Given the description of an element on the screen output the (x, y) to click on. 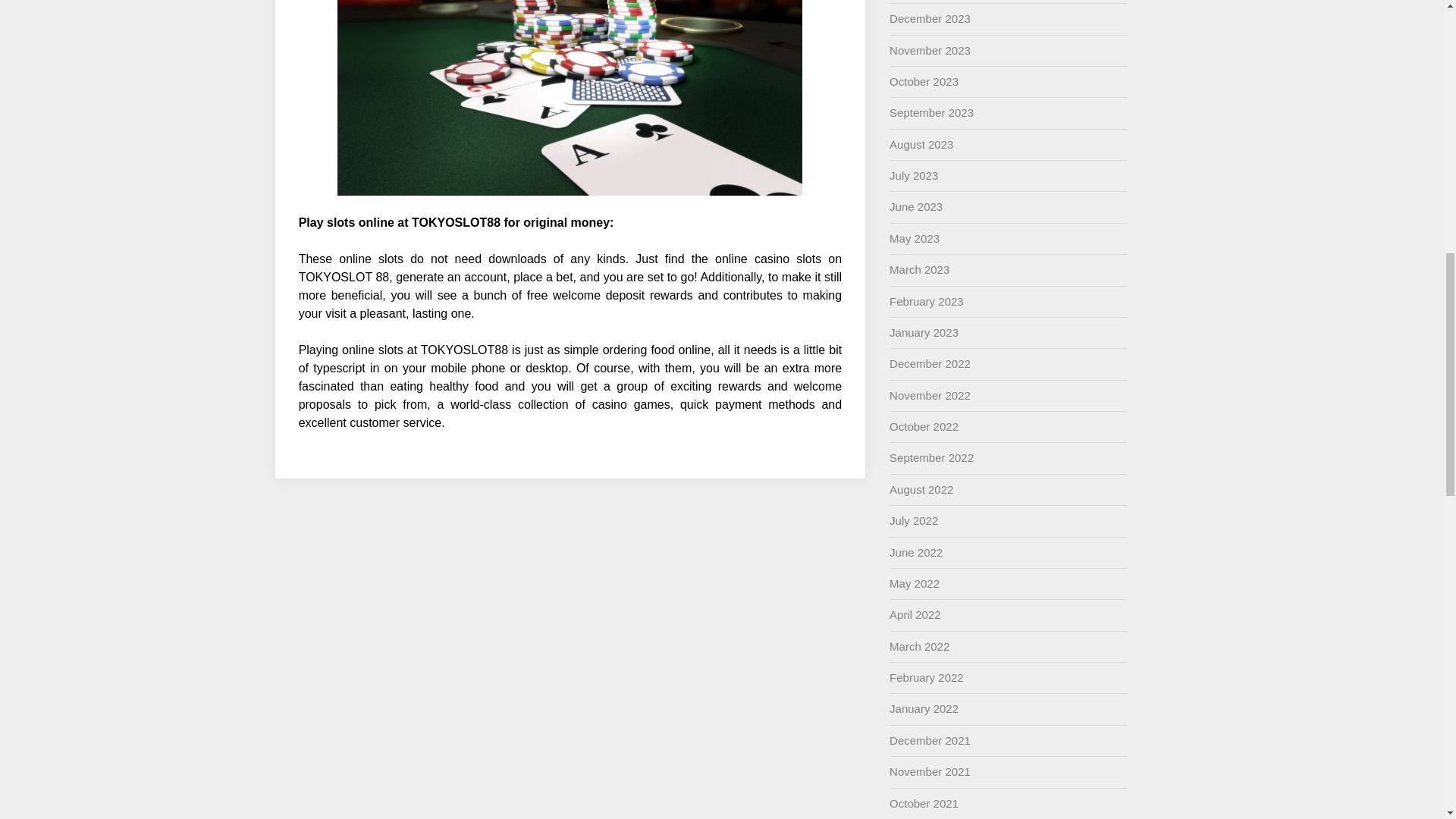
May 2023 (914, 237)
December 2023 (930, 18)
February 2023 (926, 300)
January 2023 (923, 332)
October 2022 (923, 426)
June 2022 (915, 552)
July 2023 (913, 174)
November 2023 (930, 50)
November 2022 (930, 395)
September 2022 (931, 457)
